Given the description of an element on the screen output the (x, y) to click on. 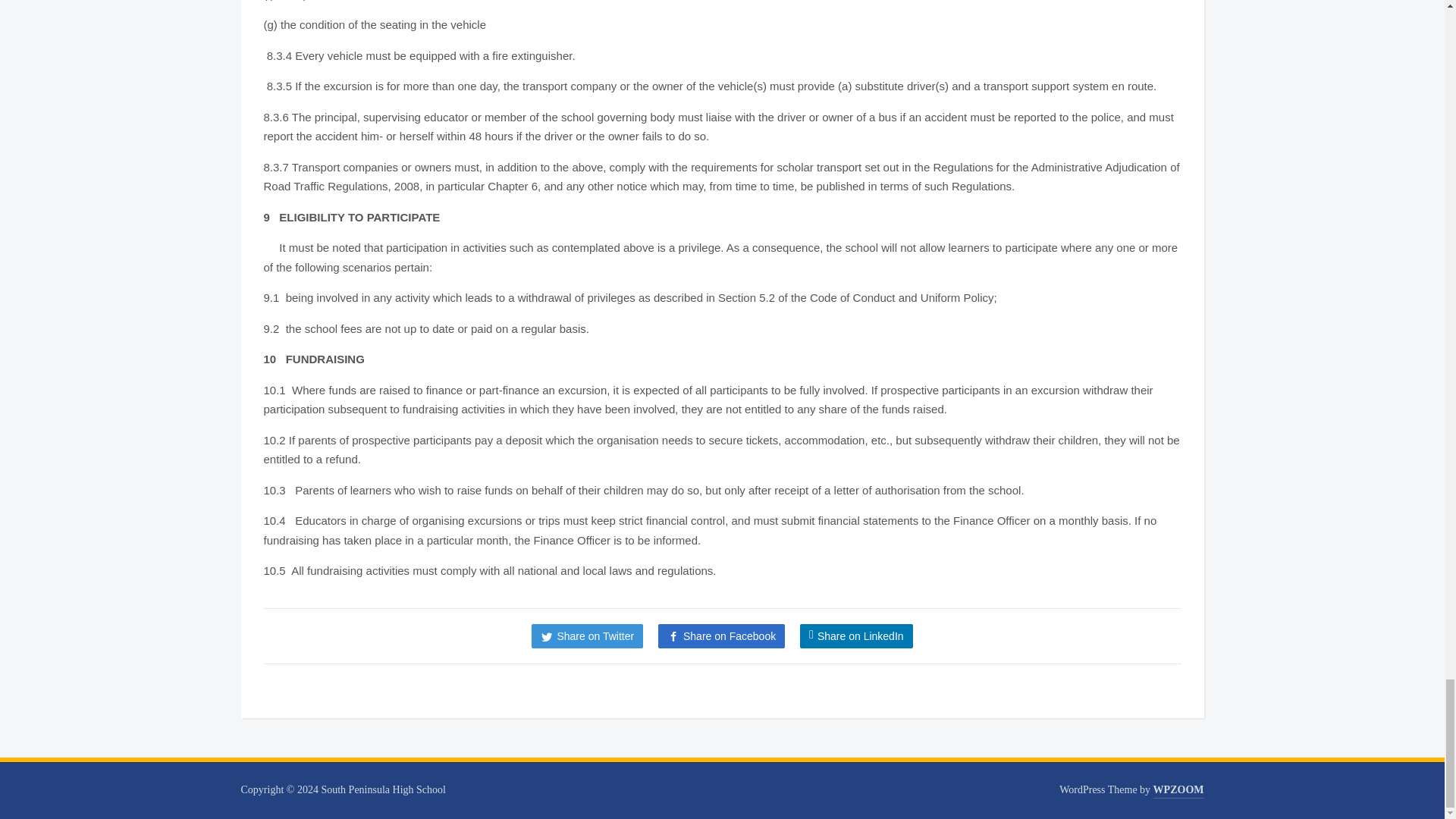
Tweet this on Twitter (587, 636)
Share on LinkedIn (855, 636)
Share this on Facebook (721, 636)
